Given the description of an element on the screen output the (x, y) to click on. 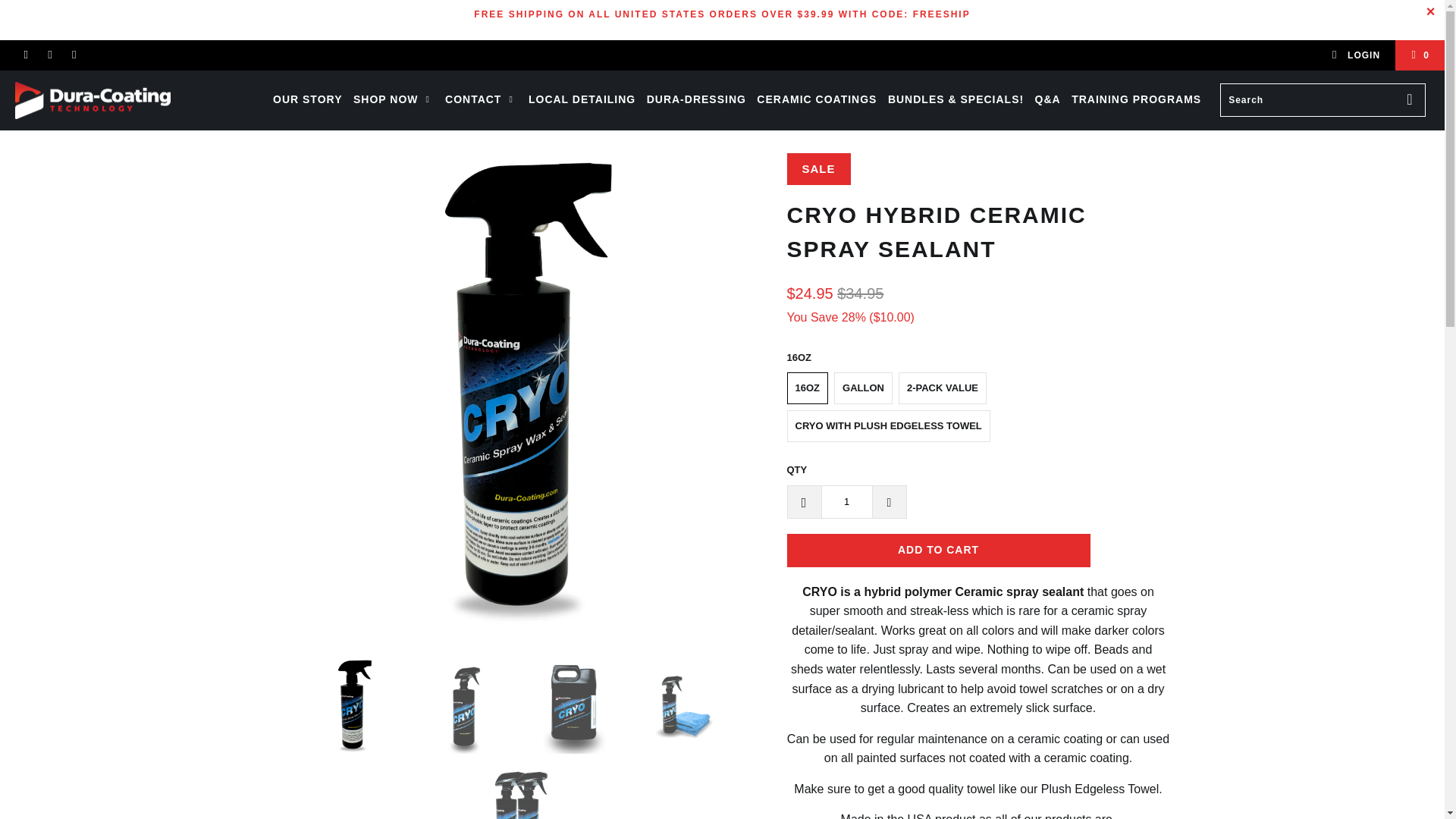
My Account  (1355, 55)
Dura-Coating Technology on Pinterest (73, 54)
Dura-Coating Technology on YouTube (49, 54)
Dura-Coating Technology on Facebook (25, 54)
Dura-Coating Technology (122, 100)
1 (846, 501)
